Given the description of an element on the screen output the (x, y) to click on. 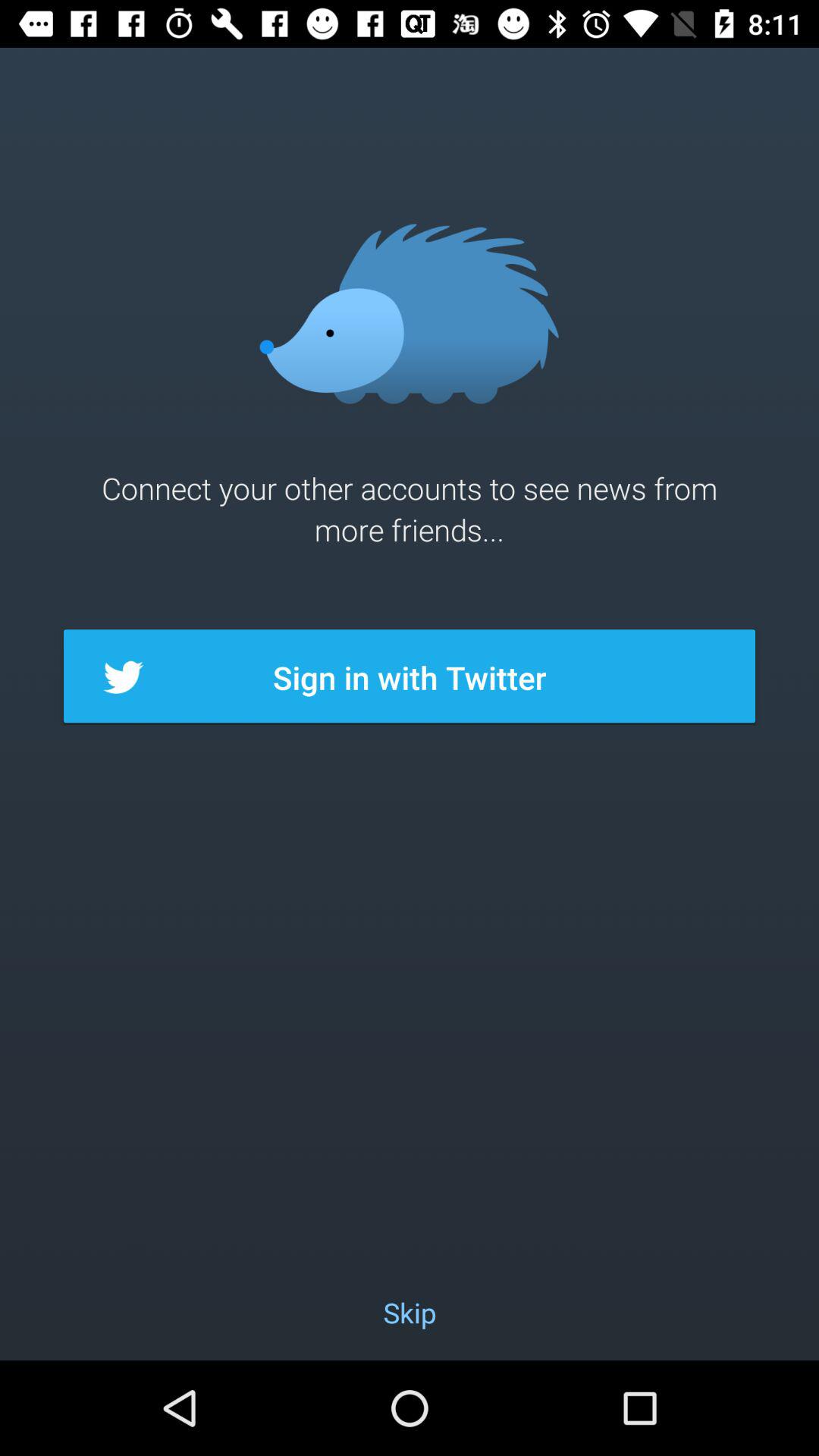
turn off the icon below connect your other icon (409, 677)
